Given the description of an element on the screen output the (x, y) to click on. 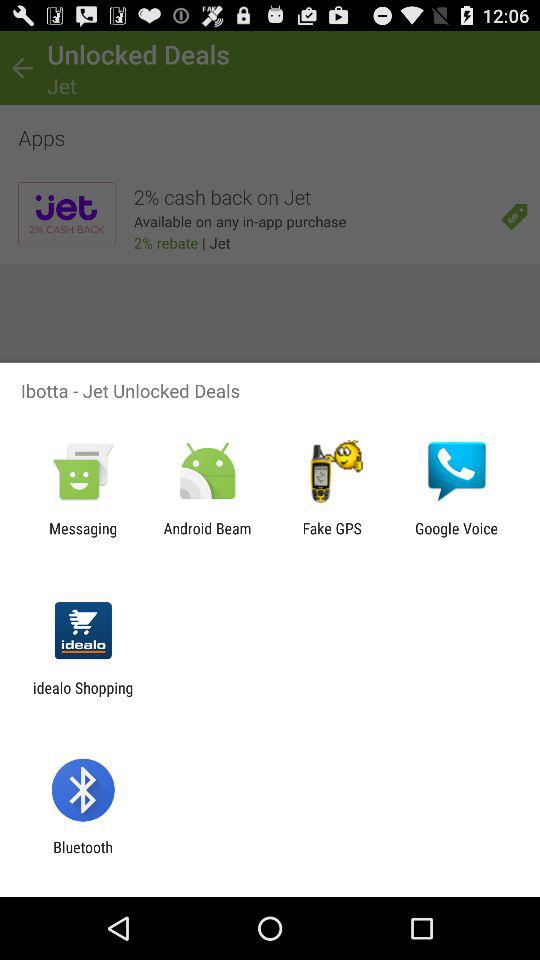
turn on app to the left of android beam (83, 537)
